Given the description of an element on the screen output the (x, y) to click on. 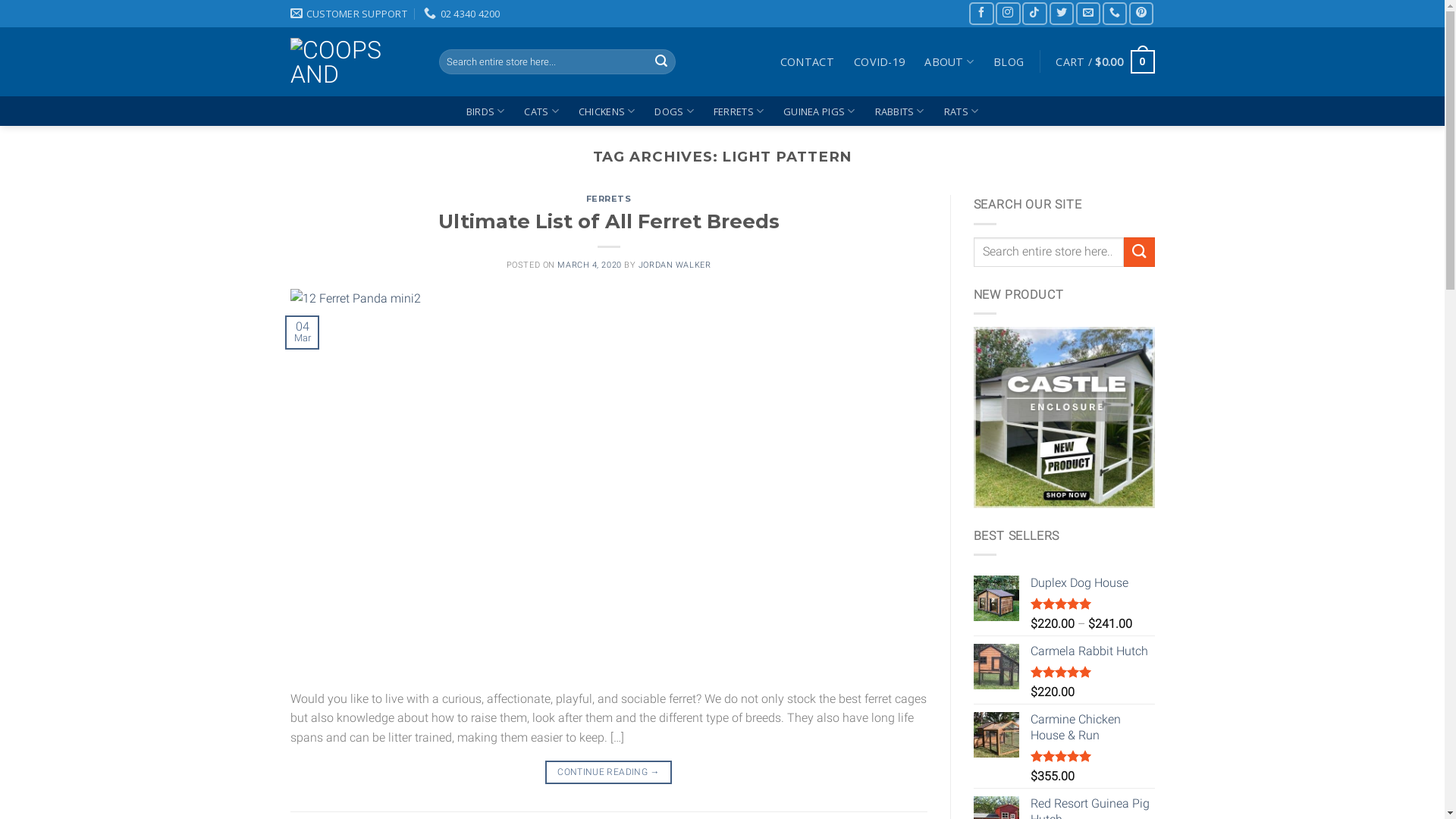
Carmine Chicken House & Run Element type: text (1091, 727)
ABOUT Element type: text (948, 61)
BIRDS Element type: text (485, 110)
Follow on Twitter Element type: hover (1061, 13)
BLOG Element type: text (1008, 61)
CART / $0.00
0 Element type: text (1104, 61)
GUINEA PIGS Element type: text (818, 110)
JORDAN WALKER Element type: text (674, 264)
Duplex Dog House Element type: text (1091, 583)
Carmela Rabbit Hutch Element type: text (1091, 651)
Ultimate List of All Ferret Breeds Element type: text (608, 220)
Call us Element type: hover (1114, 13)
COVID-19 Element type: text (878, 61)
Search Element type: text (661, 62)
Follow on Pinterest Element type: hover (1141, 13)
RATS Element type: text (961, 110)
FERRETS Element type: text (738, 110)
RABBITS Element type: text (899, 110)
CHICKENS Element type: text (606, 110)
Follow on Instagram Element type: hover (1007, 13)
CONTACT Element type: text (807, 61)
CATS Element type: text (541, 110)
02 4340 4200 Element type: text (461, 13)
Send us an email Element type: hover (1088, 13)
DOGS Element type: text (673, 110)
Coops and Cages - Chicken Coops Element type: hover (352, 61)
CUSTOMER SUPPORT Element type: text (347, 13)
Ultimate List of All Ferret Breeds 1 Element type: hover (607, 479)
FERRETS Element type: text (608, 198)
Follow on TikTok Element type: hover (1034, 13)
MARCH 4, 2020 Element type: text (589, 264)
Follow on Facebook Element type: hover (981, 13)
